Given the description of an element on the screen output the (x, y) to click on. 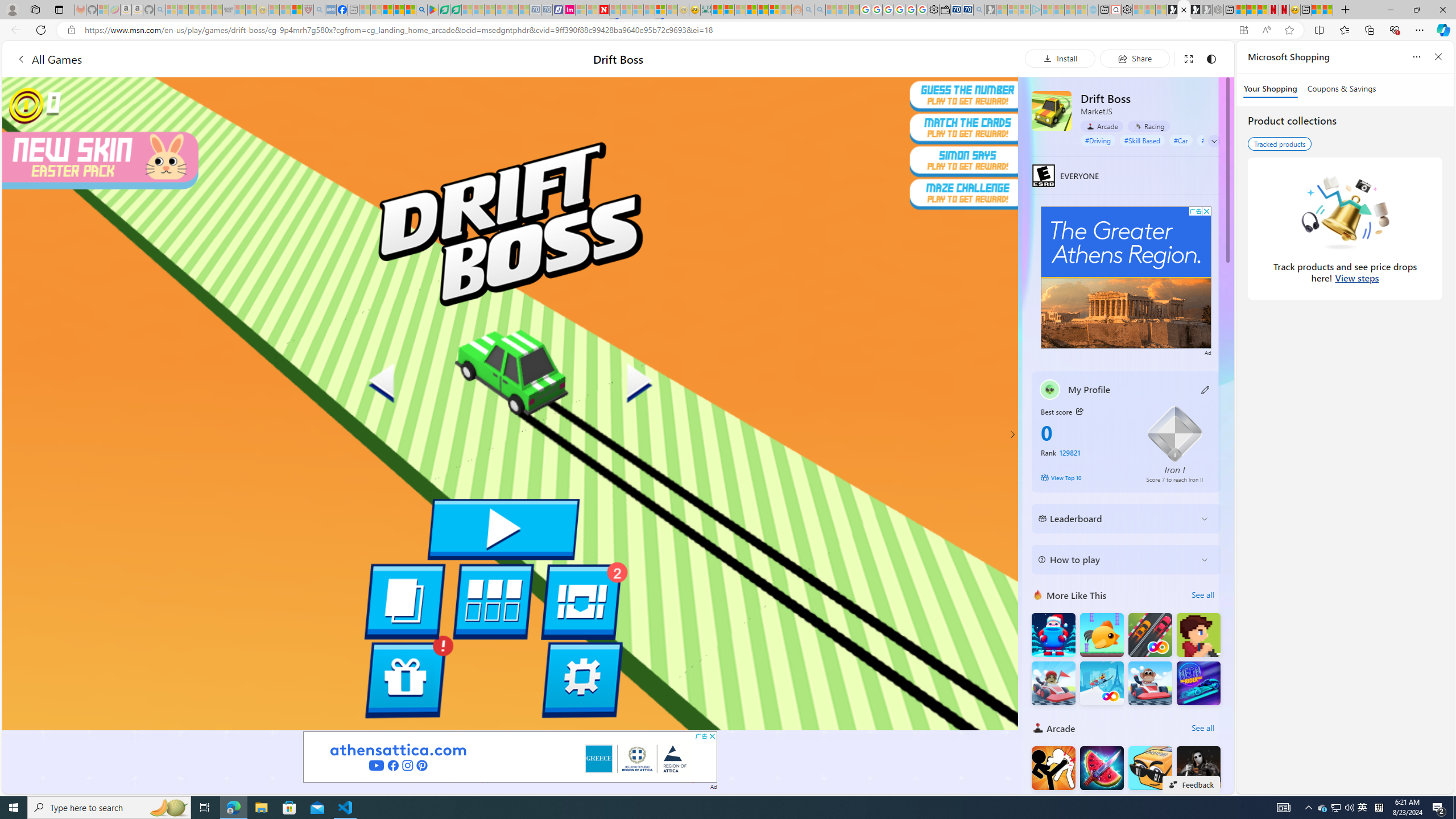
Microsoft account | Privacy - Sleeping (1024, 9)
Class: button (1079, 411)
Racing (1148, 126)
View Top 10 (1085, 477)
How to play (1116, 559)
Change to dark mode (1211, 58)
Settings and more (Alt+F) (1419, 29)
Add this page to favorites (Ctrl+D) (1289, 29)
Microsoft Word - consumer-privacy address update 2.2021 (455, 9)
Home | Sky Blue Bikes - Sky Blue Bikes - Sleeping (1092, 9)
Close tab (1183, 9)
